Given the description of an element on the screen output the (x, y) to click on. 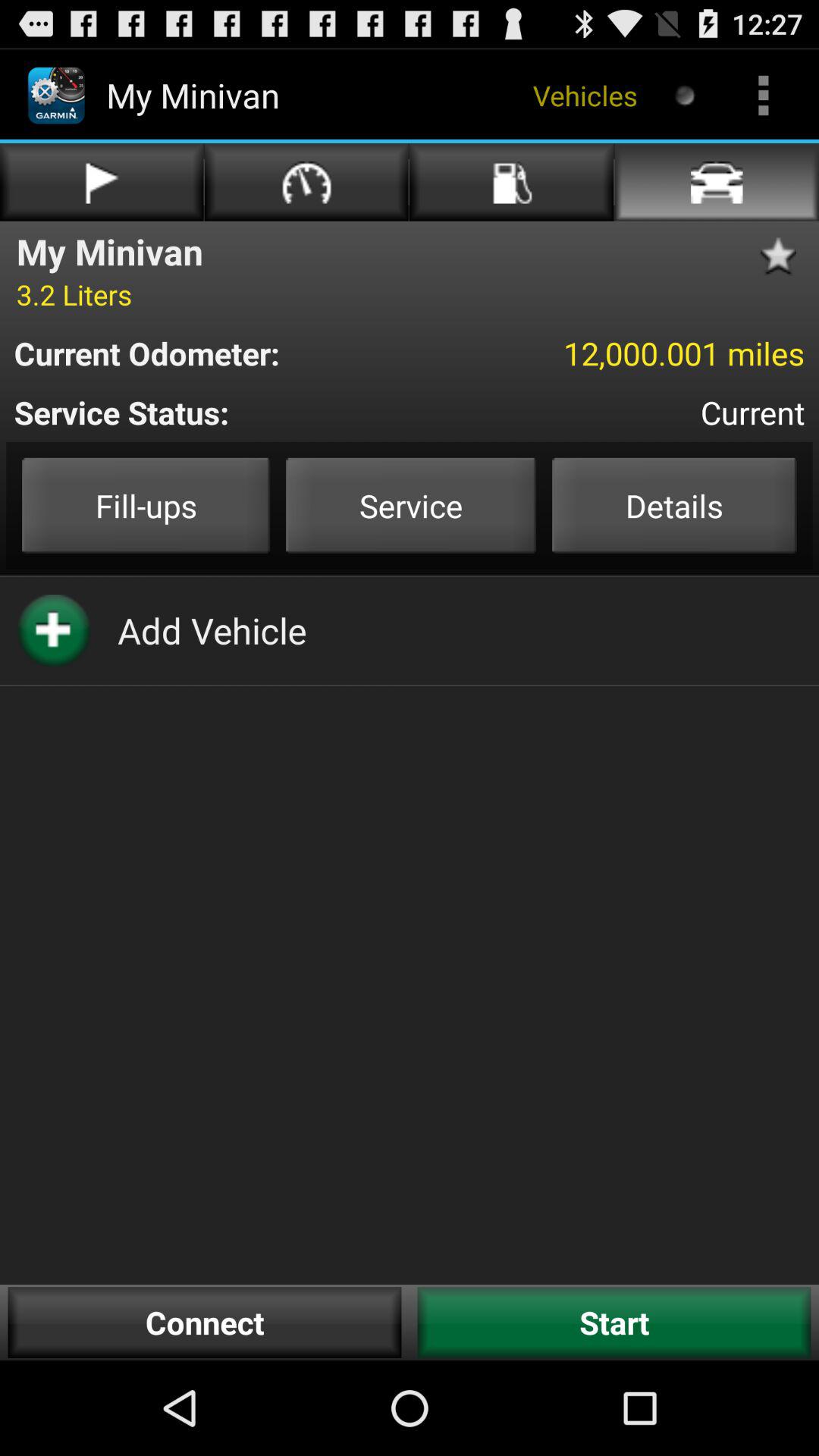
jump to the fill-ups icon (146, 505)
